Given the description of an element on the screen output the (x, y) to click on. 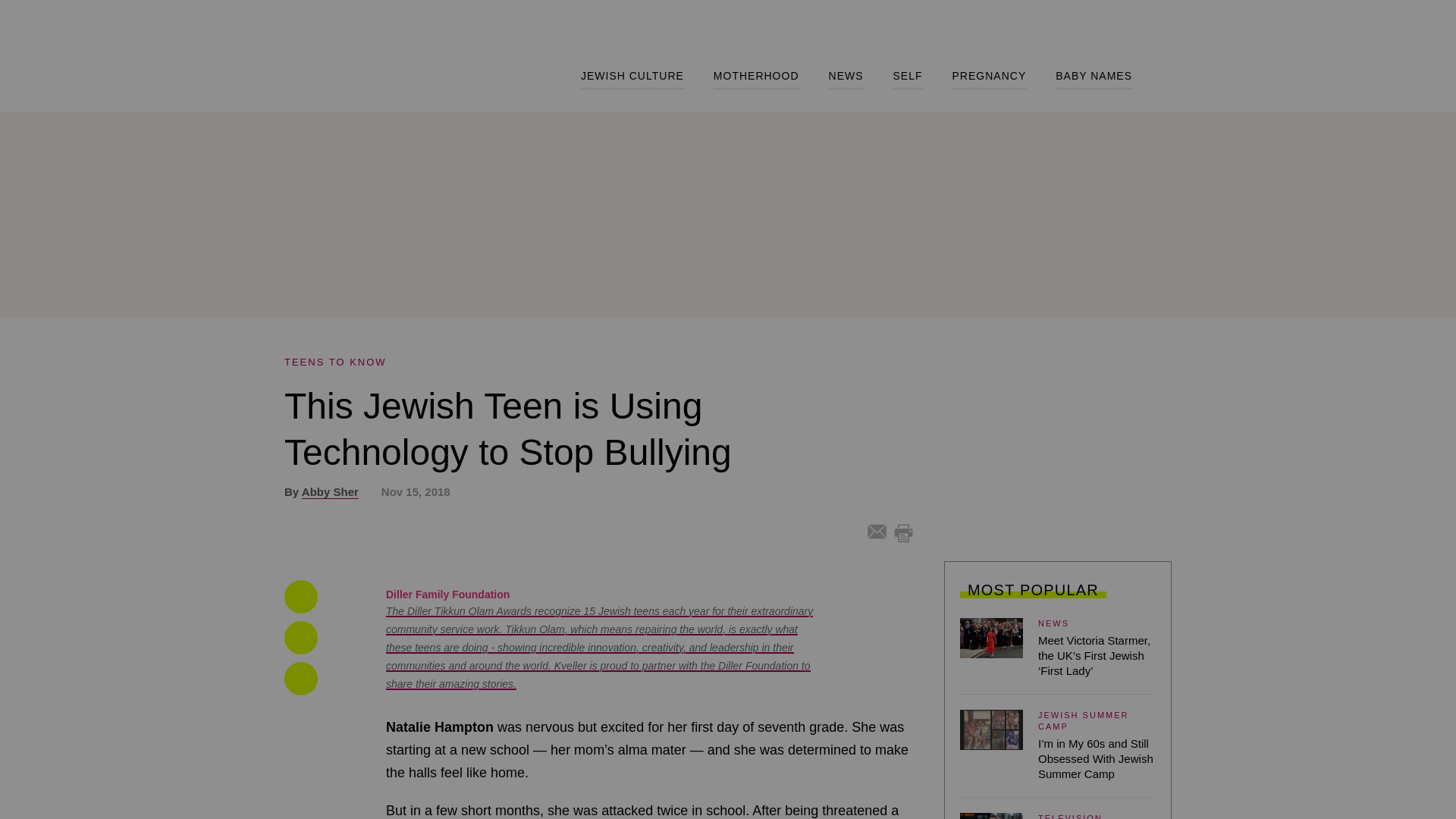
Kveller (389, 89)
PREGNANCY (989, 79)
3rd party ad content (1057, 451)
MOTHERHOOD (756, 79)
SELF (908, 79)
Abby Sher (329, 491)
TEENS TO KNOW (335, 361)
BABY NAMES (1093, 79)
NEWS (845, 79)
JEWISH CULTURE (632, 79)
Close (896, 278)
